Given the description of an element on the screen output the (x, y) to click on. 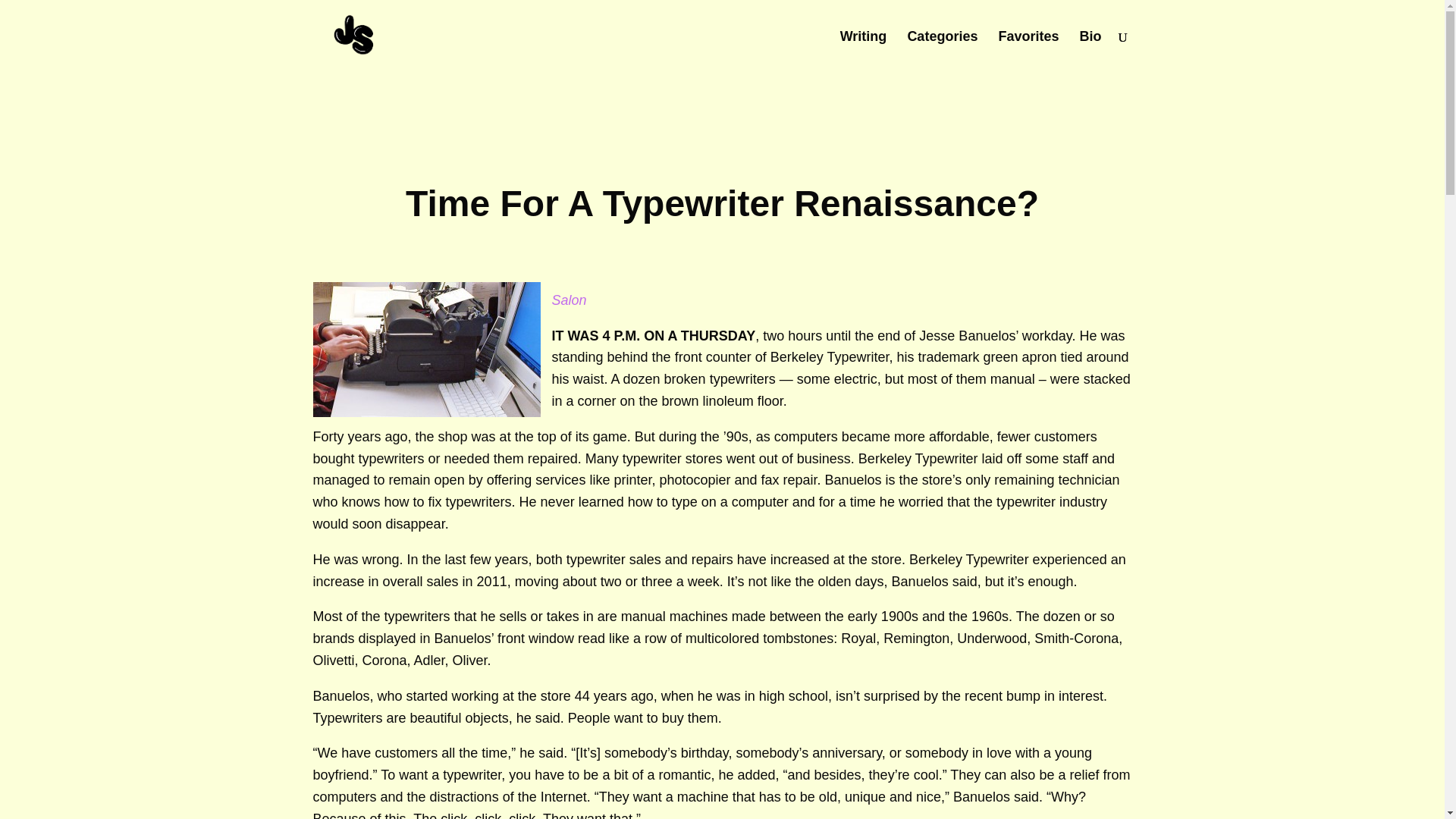
Salon (568, 299)
Writing (863, 51)
Favorites (1027, 51)
Categories (941, 51)
